Given the description of an element on the screen output the (x, y) to click on. 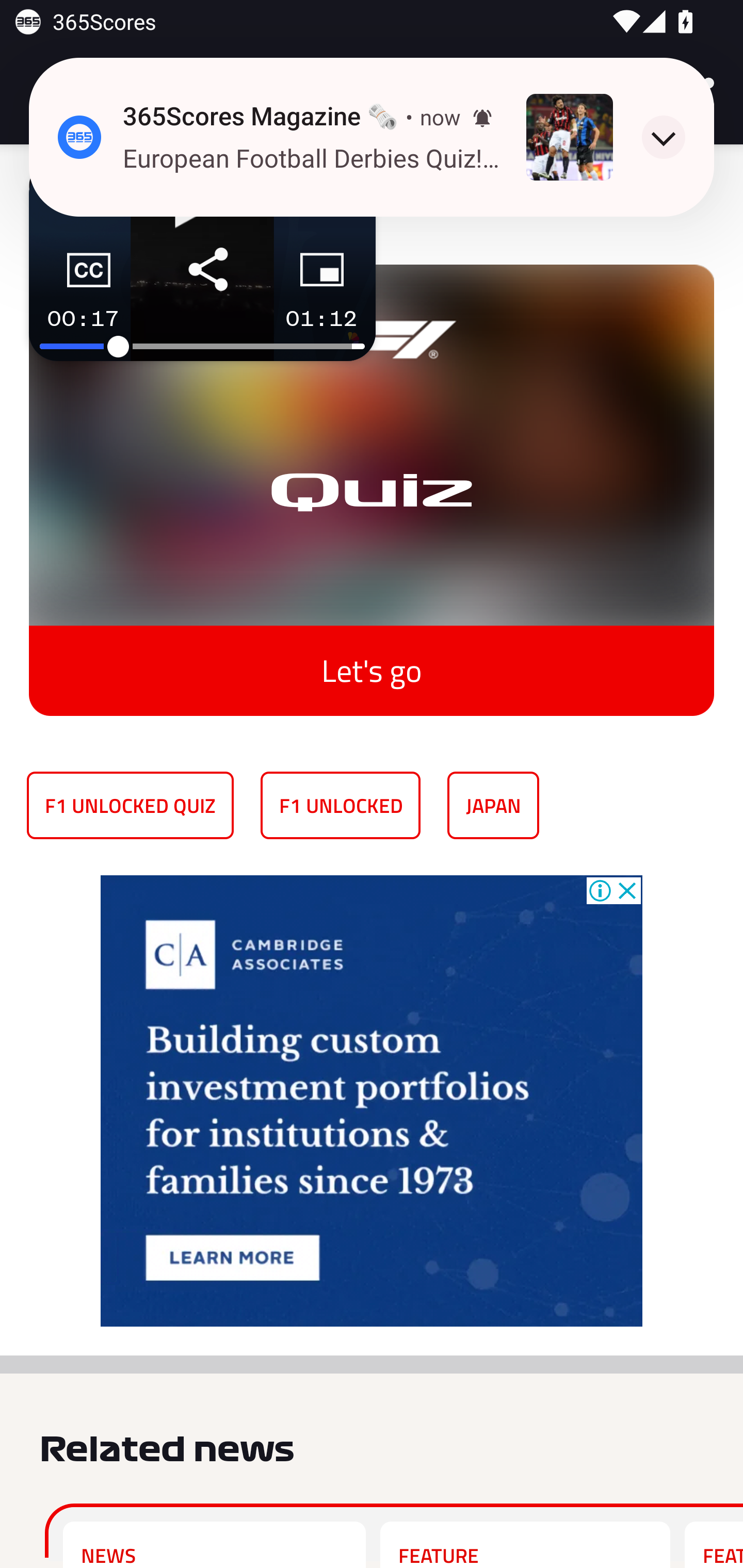
Quiz Let's go (371, 475)
F1 UNLOCKED F1 Unlocked. Double tap to activate (340, 804)
JAPAN Japan. Double tap to activate (493, 804)
Double tap on an article to open it NEWS News (214, 1544)
